Given the description of an element on the screen output the (x, y) to click on. 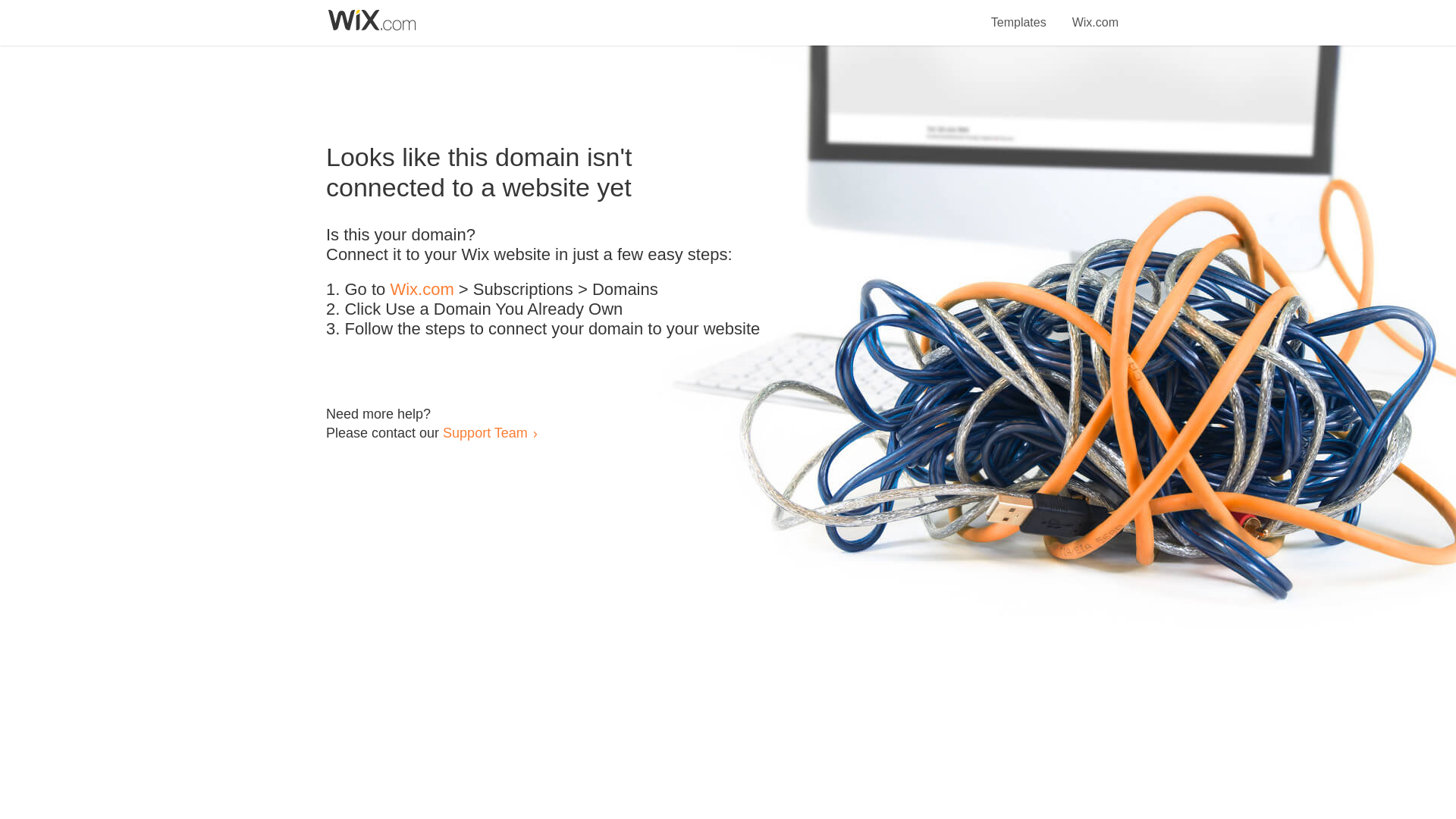
Wix.com (1095, 14)
Templates (1018, 14)
Wix.com (421, 289)
Support Team (484, 432)
